Given the description of an element on the screen output the (x, y) to click on. 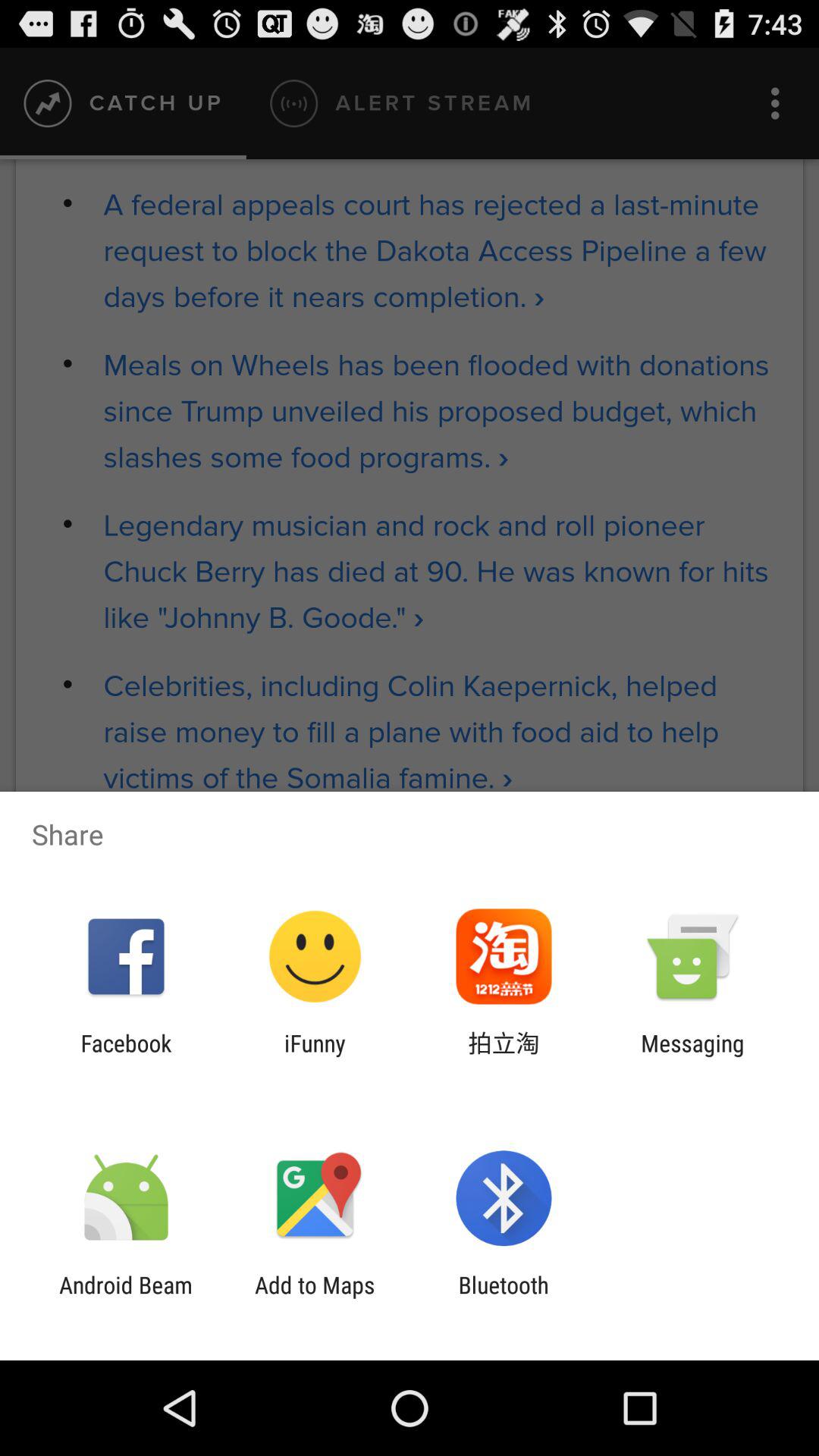
launch icon next to the android beam icon (314, 1298)
